Given the description of an element on the screen output the (x, y) to click on. 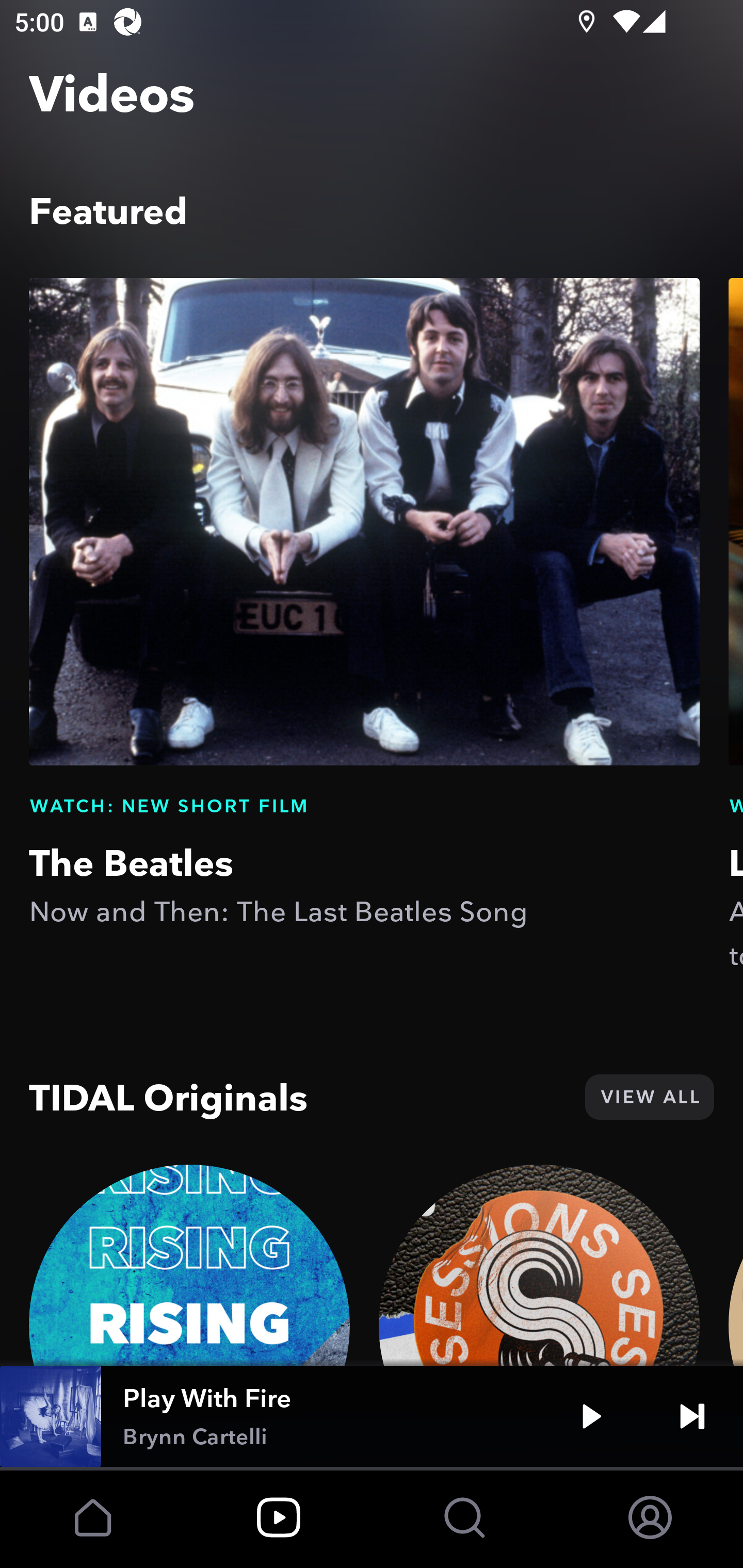
VIEW ALL (649, 1096)
Play With Fire Brynn Cartelli Play (371, 1416)
Play (590, 1416)
